Given the description of an element on the screen output the (x, y) to click on. 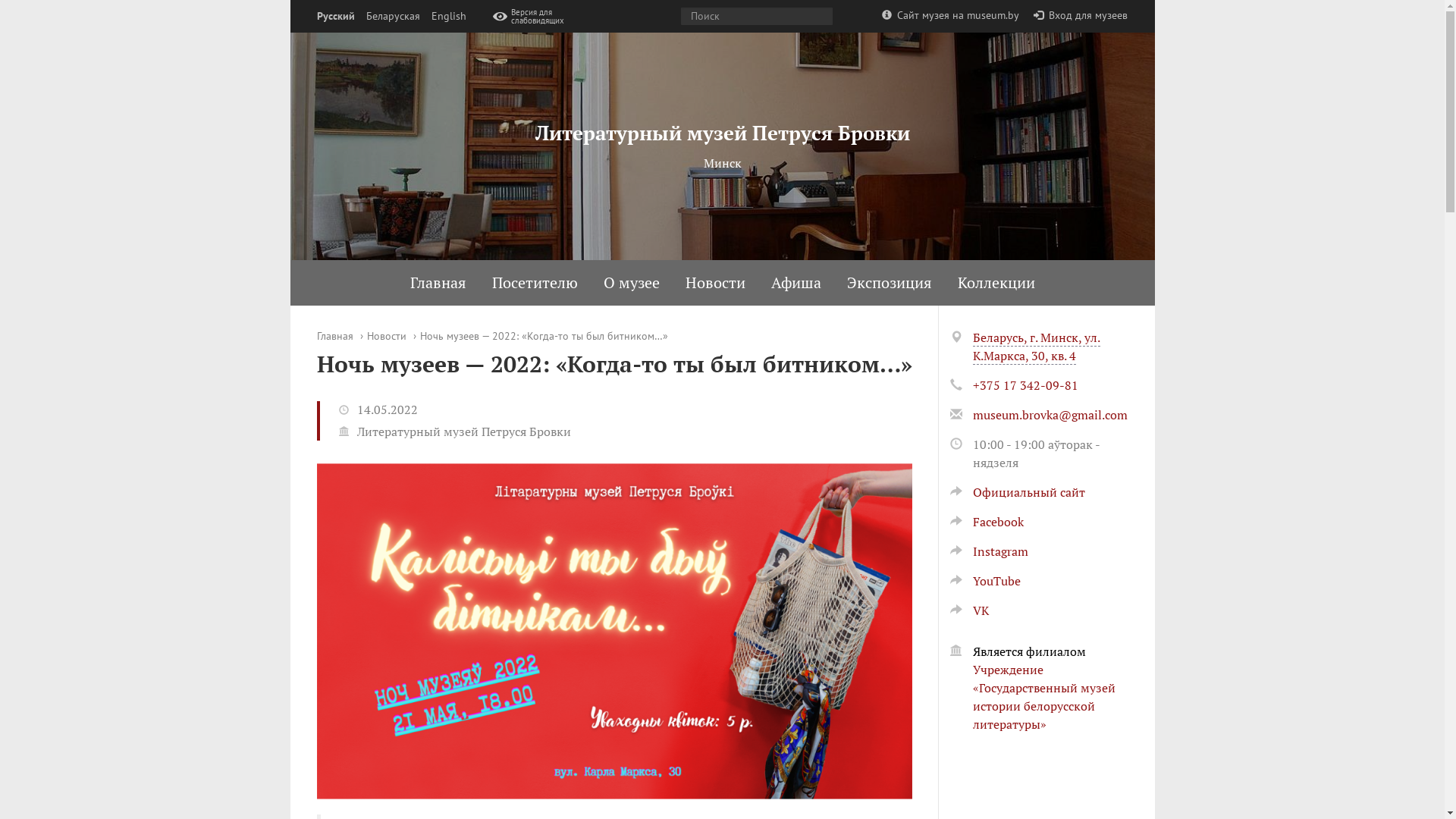
VK Element type: text (968, 610)
Facebook Element type: text (985, 521)
museum.brovka@gmail.com Element type: text (1049, 414)
English Element type: text (447, 16)
Instagram Element type: text (988, 550)
+375 17 342-09-81 Element type: text (1024, 385)
YouTube Element type: text (984, 580)
